Given the description of an element on the screen output the (x, y) to click on. 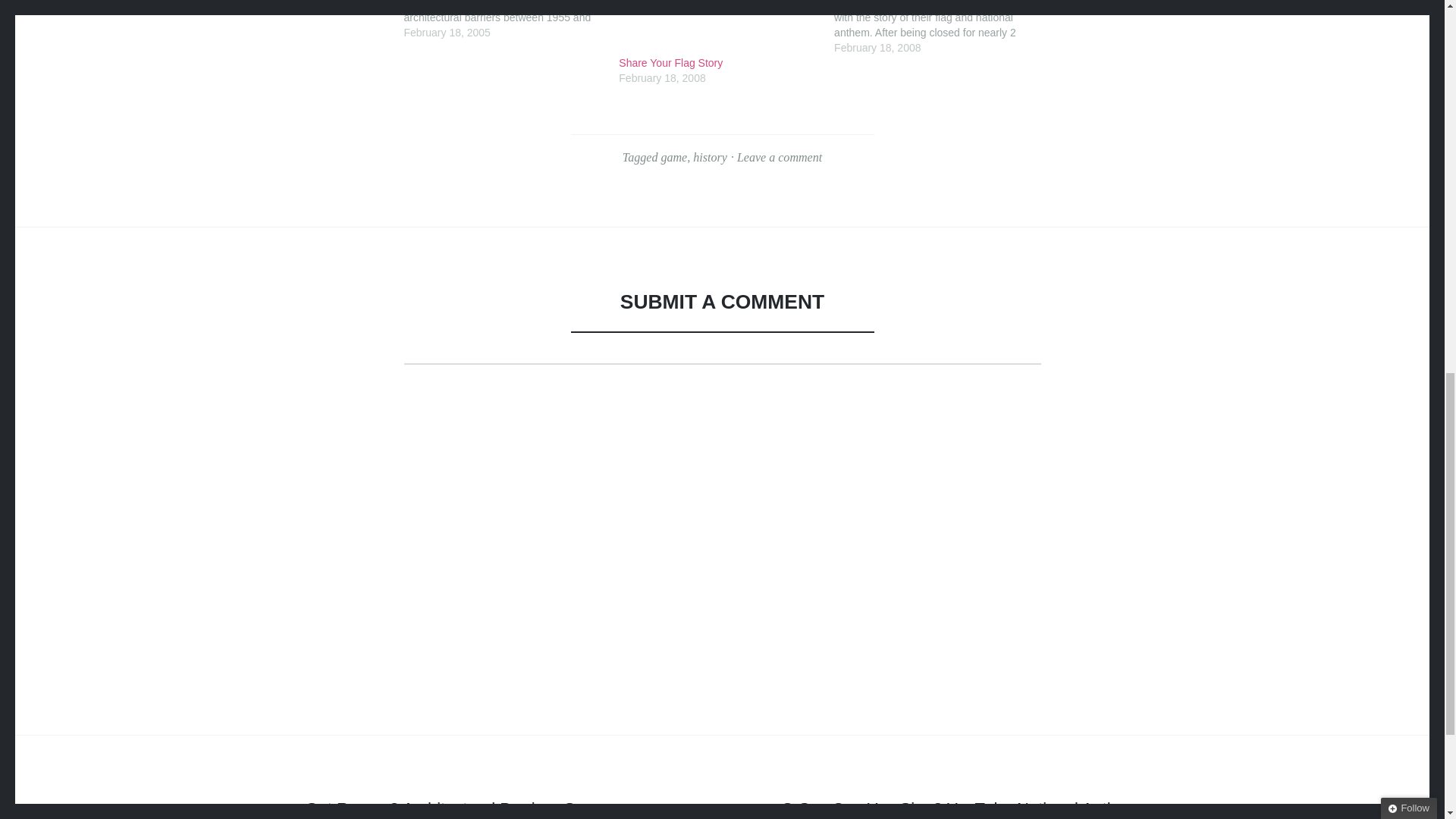
Sign me up! (1338, 164)
Got Ramps? Architectural Barriers Game (456, 809)
Share Your Flag Story (718, 24)
game (674, 156)
Leave a comment (779, 156)
Share Your Flag Story (718, 62)
history (709, 156)
Share Your Flag Story (718, 62)
Email Address (1358, 136)
